Given the description of an element on the screen output the (x, y) to click on. 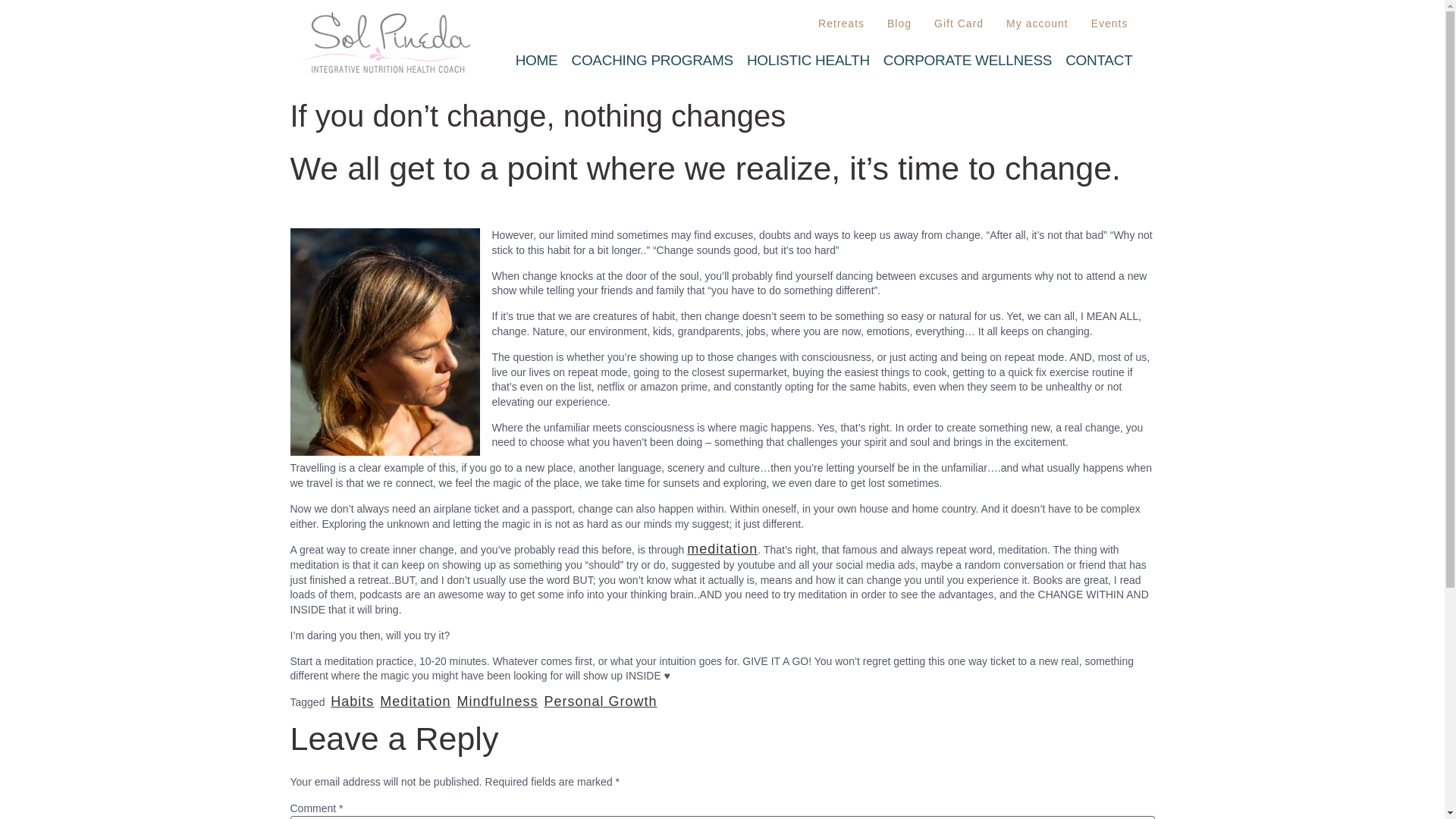
Habits (352, 701)
Gift Card (958, 23)
Meditation (414, 701)
HOLISTIC HEALTH (807, 59)
My account (1037, 23)
COACHING PROGRAMS (651, 59)
Mindfulness (497, 701)
HOME (536, 59)
Retreats (841, 23)
meditation (722, 548)
CONTACT (1098, 59)
CORPORATE WELLNESS (967, 59)
Blog (899, 23)
Personal Growth (599, 701)
Events (1110, 23)
